Given the description of an element on the screen output the (x, y) to click on. 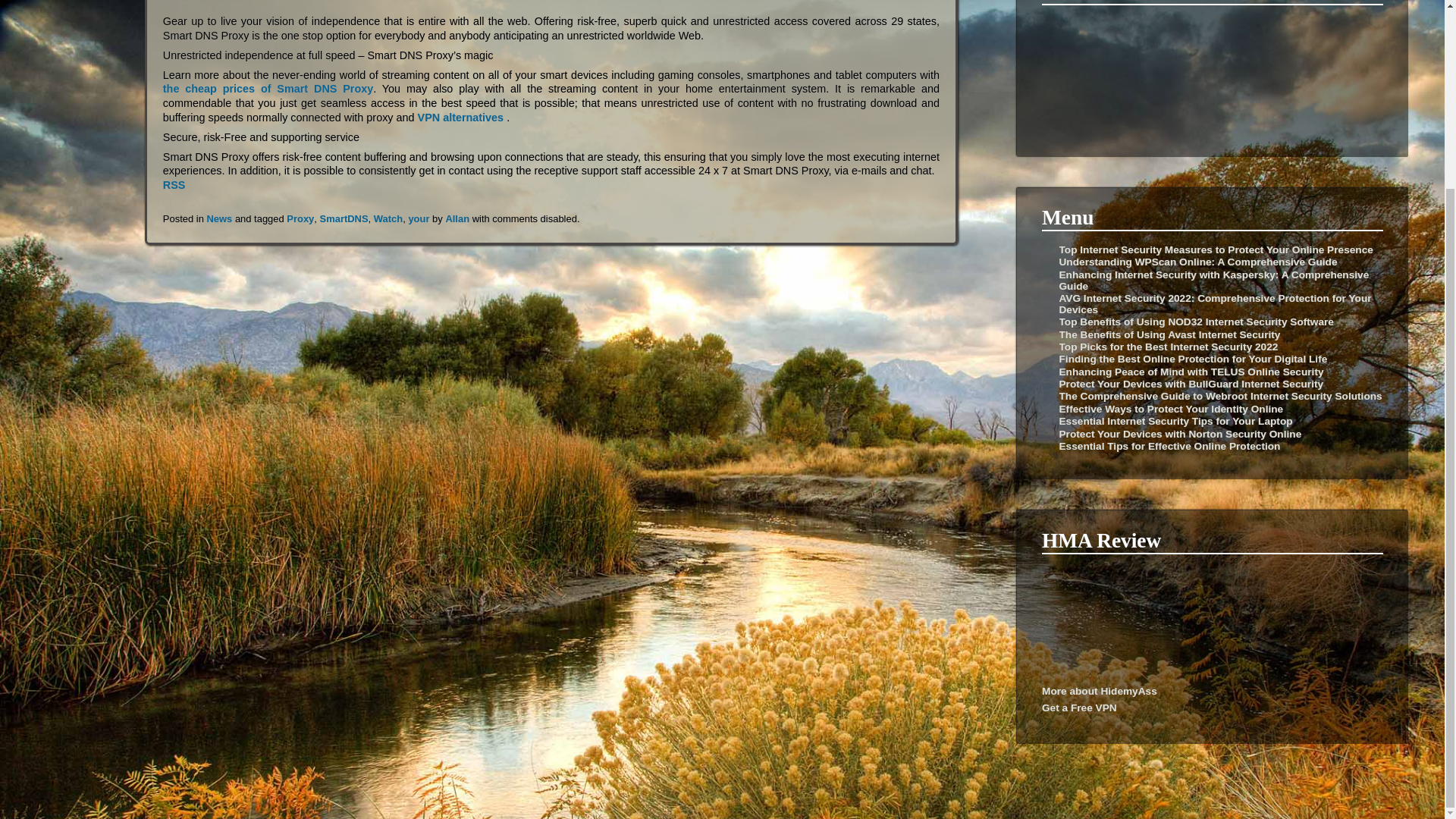
More about HidemyAss (1099, 690)
Finding the Best Online Protection for Your Digital Life (1192, 358)
News (218, 218)
Top Benefits of Using NOD32 Internet Security Software (1195, 321)
Effective Ways to Protect Your Identity Online (1170, 408)
your (418, 218)
Proxy (300, 218)
RSS (174, 184)
